Given the description of an element on the screen output the (x, y) to click on. 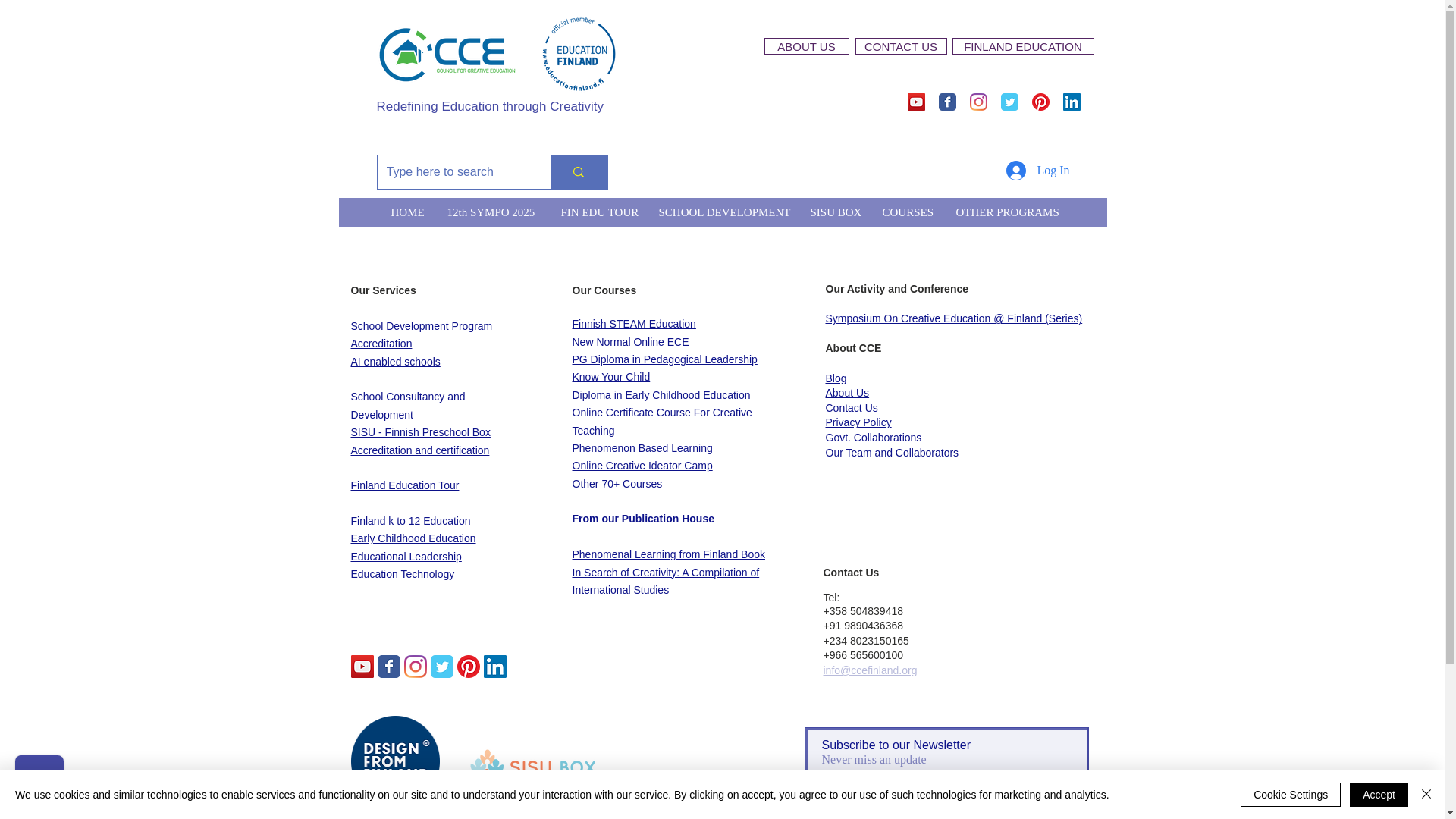
ABOUT US (806, 45)
FIN EDU TOUR (597, 212)
CONTACT US (901, 45)
Log In (1037, 170)
FINLAND EDUCATION (1023, 45)
HOME (406, 212)
Redefining Education through Creativity (489, 106)
SCHOOL DEVELOPMENT (721, 212)
Wix Chat (35, 783)
12th SYMPO 2025 (491, 212)
SISU BOX (833, 212)
